Given the description of an element on the screen output the (x, y) to click on. 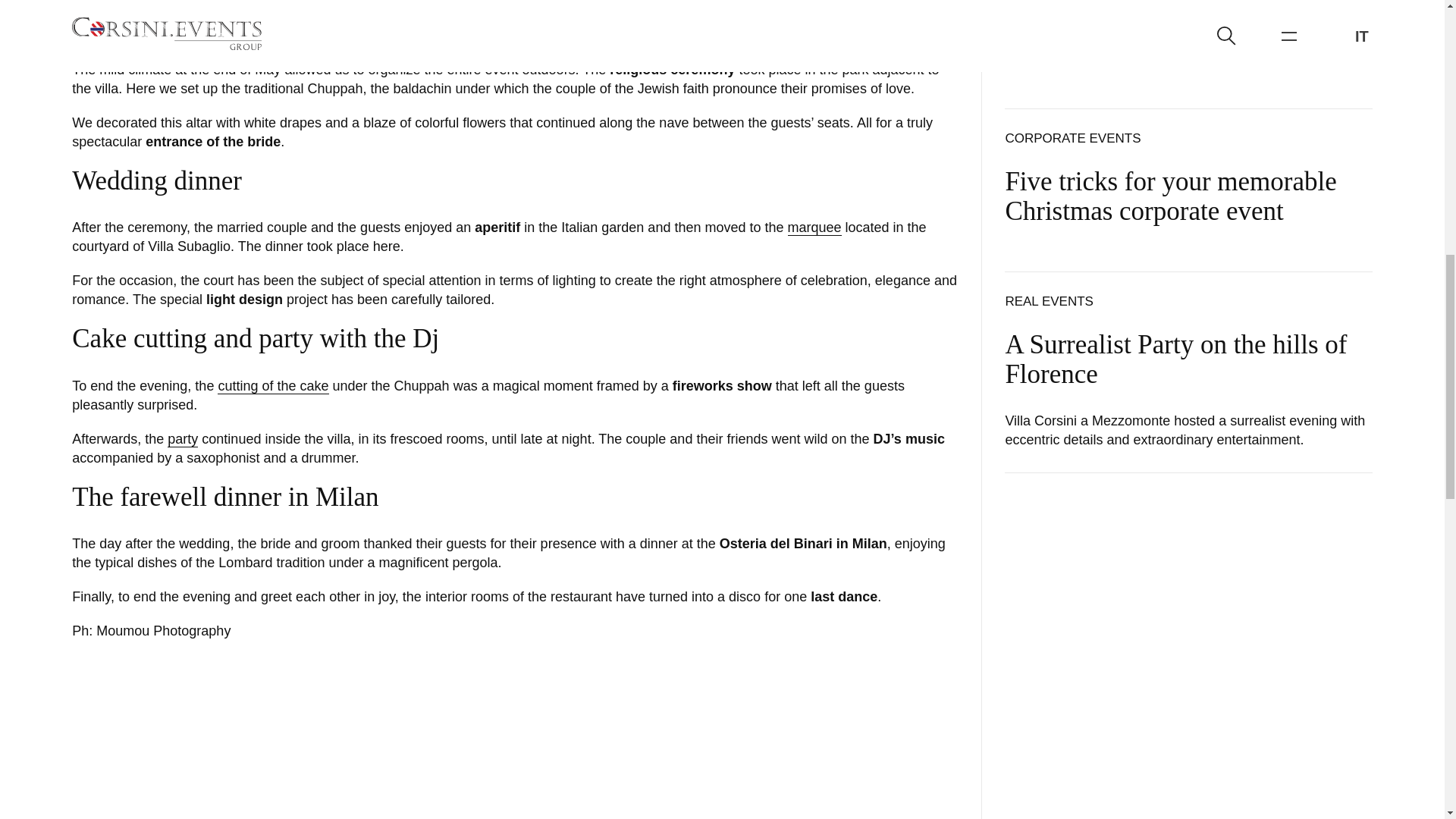
party (182, 439)
cutting of the cake (272, 385)
marquee (814, 227)
